Given the description of an element on the screen output the (x, y) to click on. 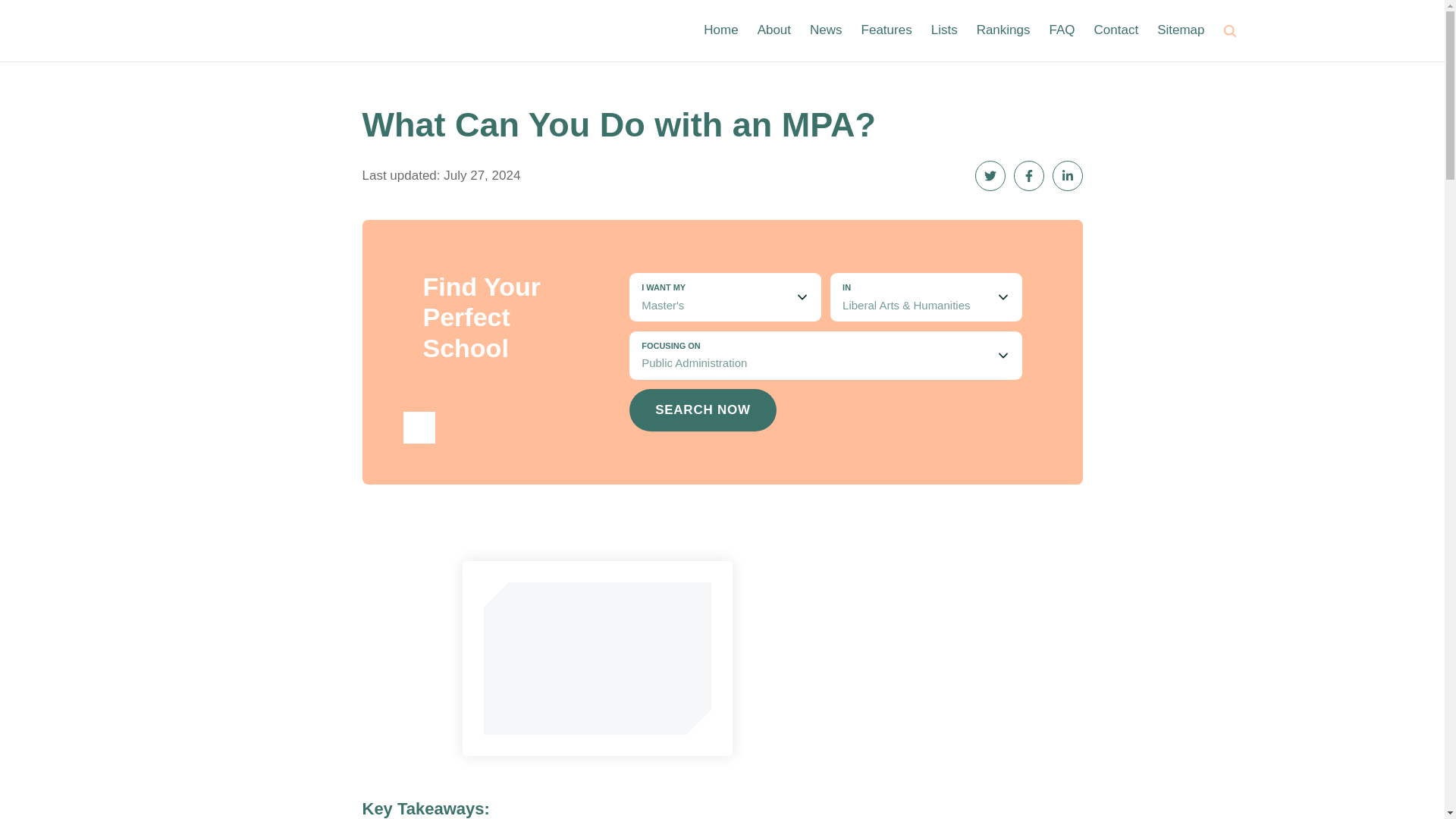
Search (1230, 30)
Features (886, 29)
SEARCH NOW (702, 410)
FAQ (1062, 29)
Contact (1116, 29)
Home (720, 29)
Search (1230, 30)
Lists (944, 29)
Sitemap (1180, 29)
About (773, 29)
